Given the description of an element on the screen output the (x, y) to click on. 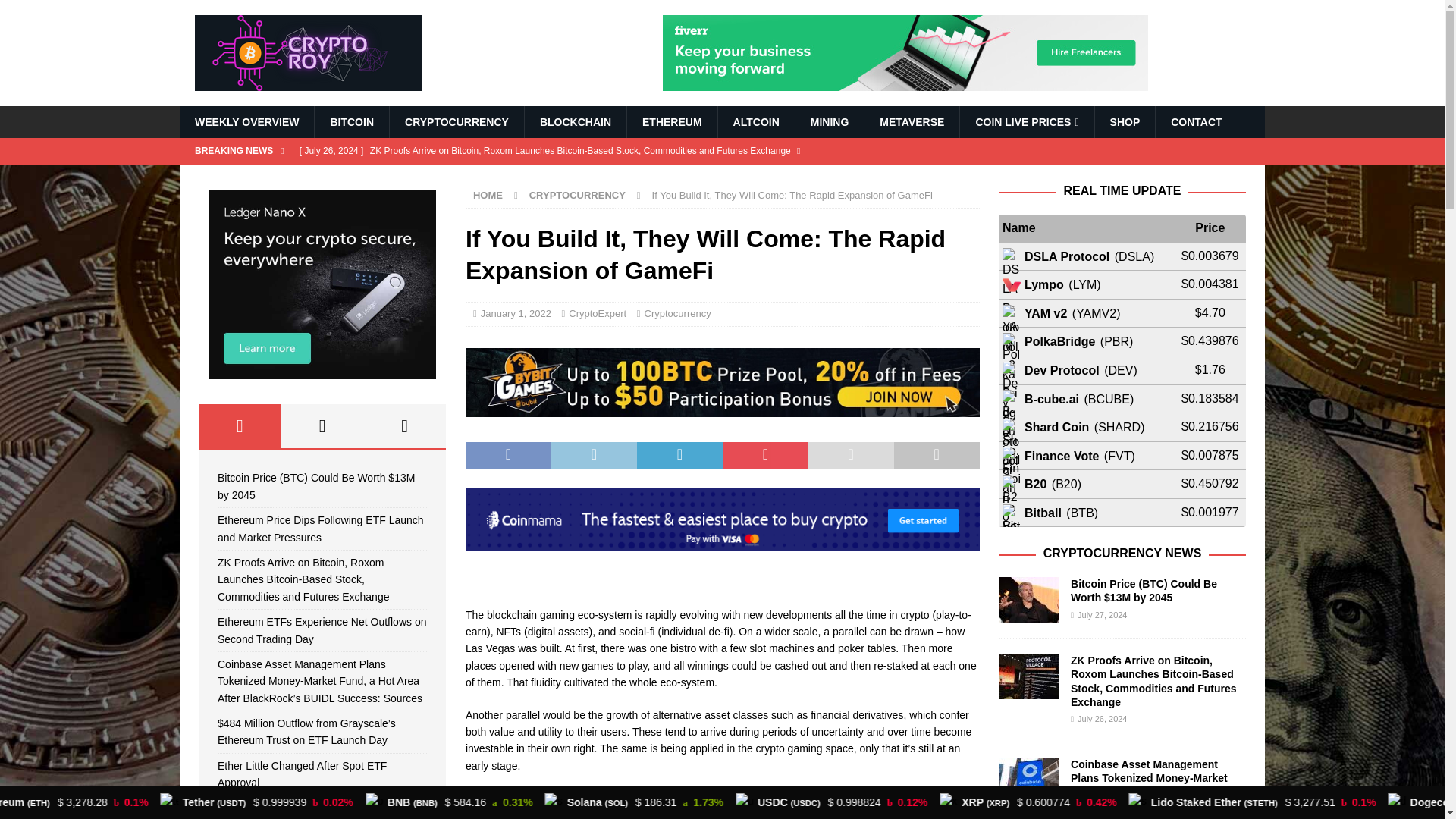
COIN LIVE PRICES (1026, 122)
ETHEREUM (671, 122)
METAVERSE (911, 122)
BLOCKCHAIN (575, 122)
BITCOIN (351, 122)
CRYPTOCURRENCY (456, 122)
MINING (829, 122)
WEEKLY OVERVIEW (246, 122)
ALTCOIN (755, 122)
